Given the description of an element on the screen output the (x, y) to click on. 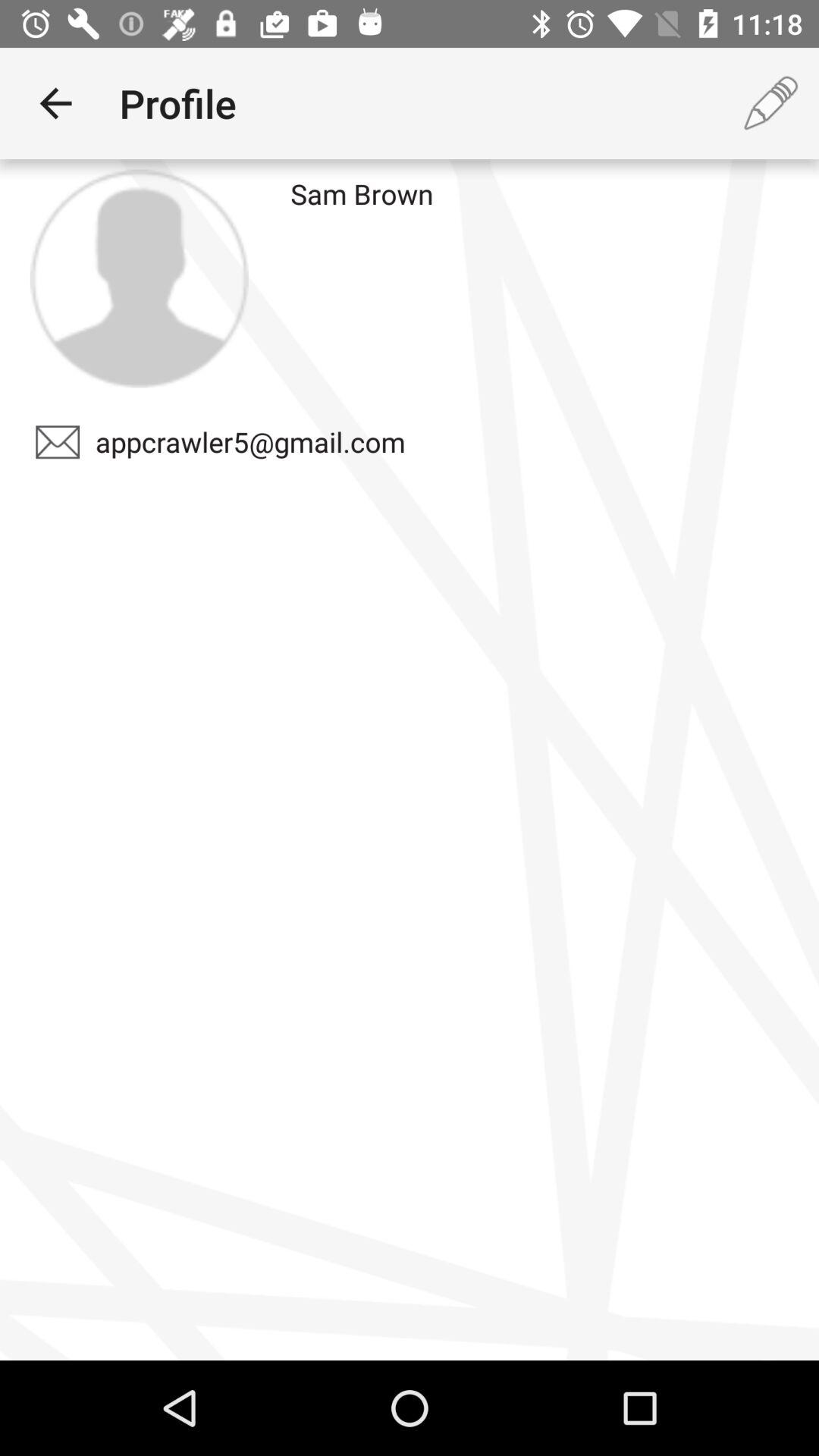
launch item next to the profile item (55, 103)
